Given the description of an element on the screen output the (x, y) to click on. 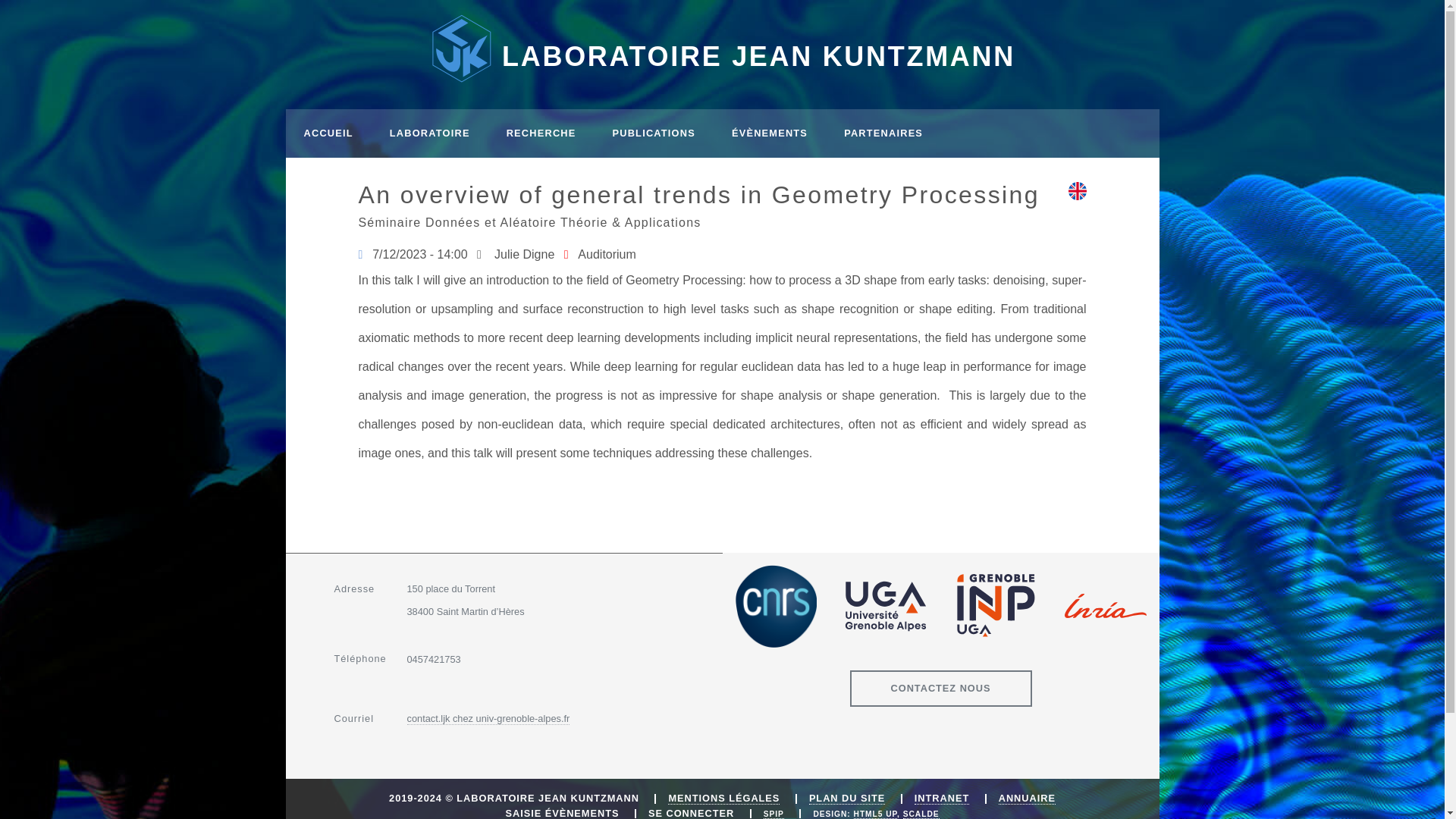
ACCUEIL (328, 133)
RECHERCHE (540, 133)
PUBLICATIONS (653, 133)
LABORATOIRE (429, 133)
LABORATOIRE JEAN KUNTZMANN (721, 48)
CONTACTEZ NOUS (939, 688)
INTRANET (941, 798)
contact.ljk chez univ-grenoble-alpes.fr (487, 718)
INRIA (1105, 605)
CNRS (774, 606)
